Given the description of an element on the screen output the (x, y) to click on. 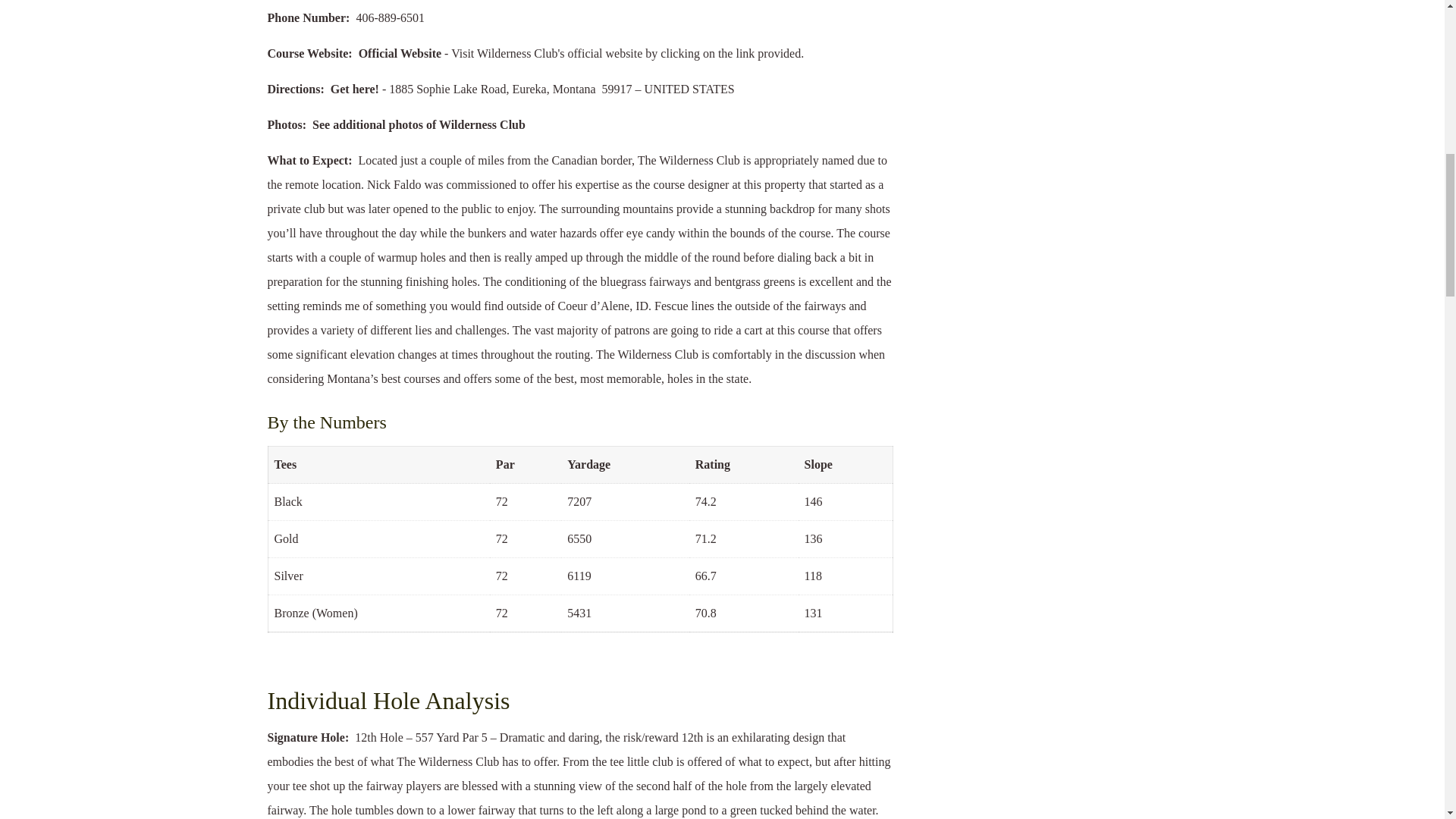
Get here! (354, 88)
See additional photos of Wilderness Club (419, 124)
Official Website (399, 52)
